Given the description of an element on the screen output the (x, y) to click on. 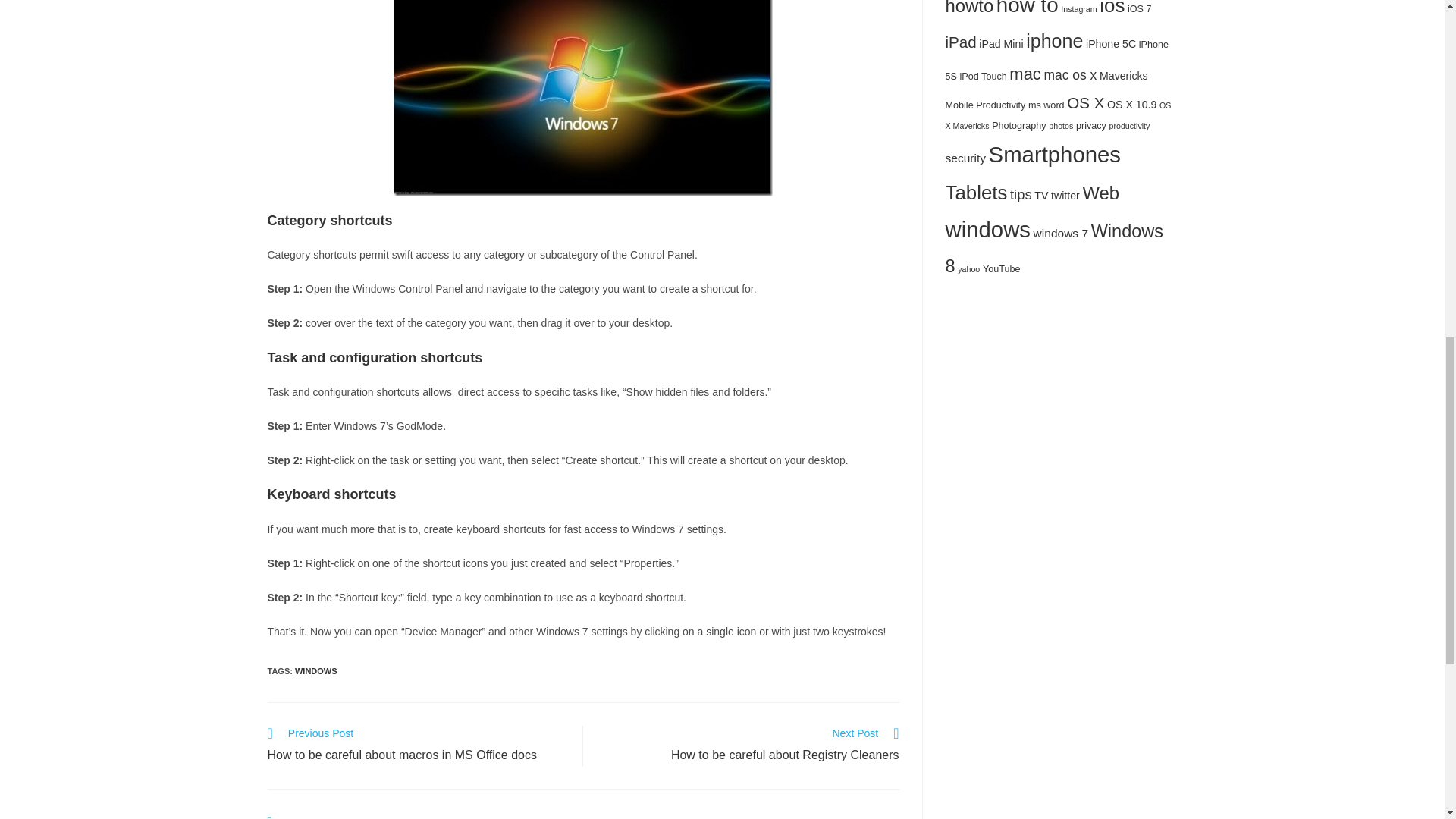
windows-7 (748, 745)
WINDOWS (583, 98)
